Given the description of an element on the screen output the (x, y) to click on. 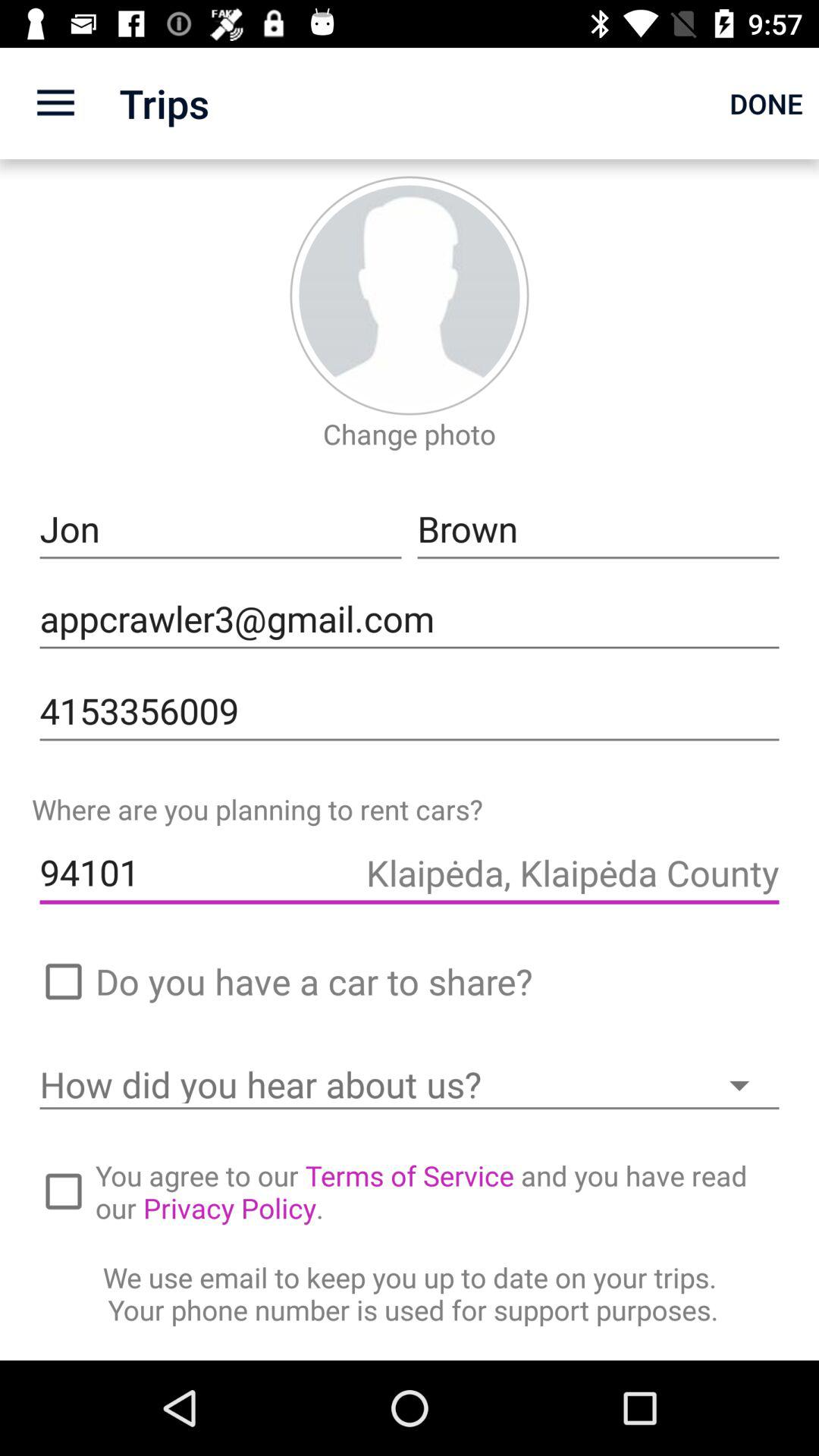
turn off icon below the appcrawler3@gmail.com (409, 711)
